Given the description of an element on the screen output the (x, y) to click on. 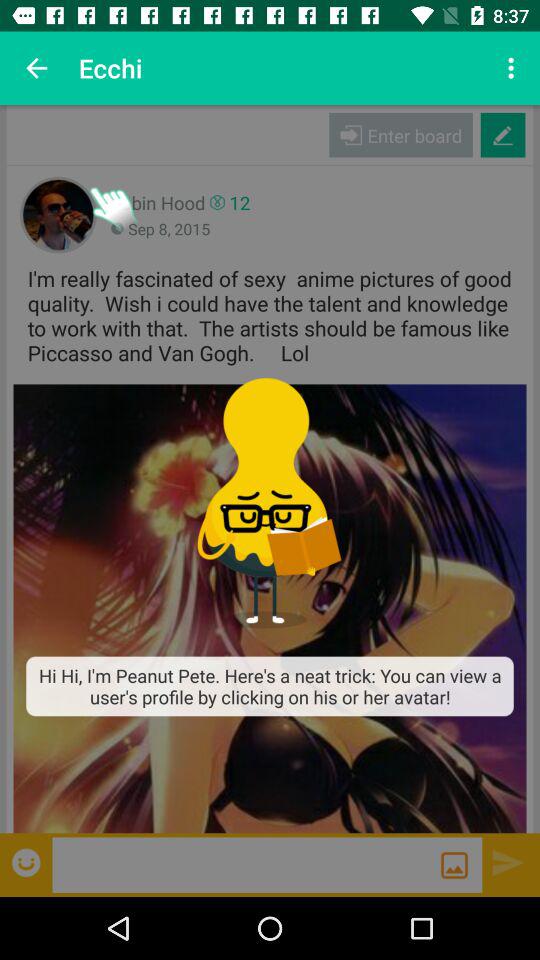
turn on the icon to the right of the ecchi  item (513, 67)
